Given the description of an element on the screen output the (x, y) to click on. 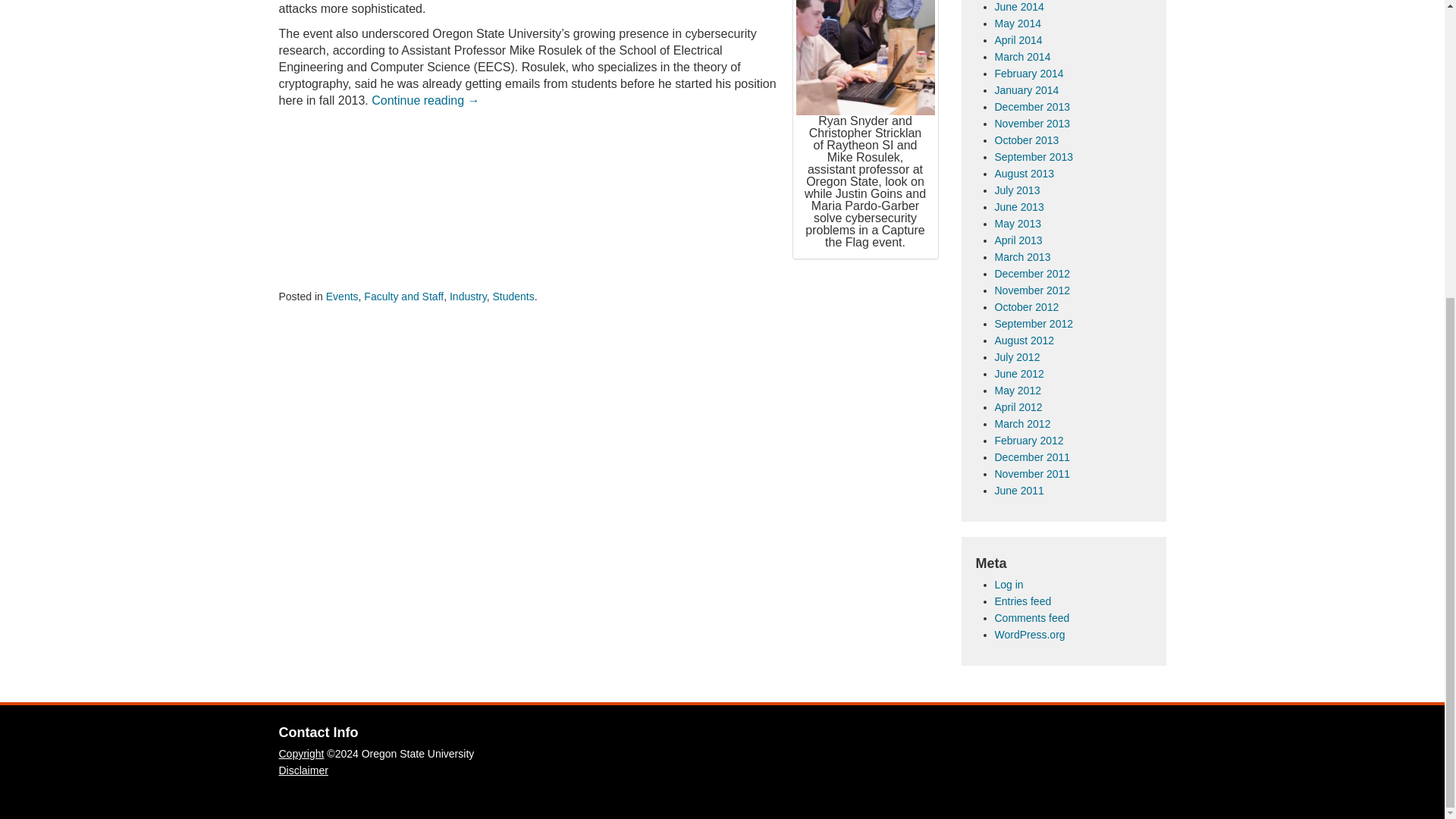
March 2014 (1022, 56)
Students (513, 296)
November 2013 (1032, 123)
Industry (467, 296)
December 2013 (1032, 106)
June 2014 (1018, 6)
May 2014 (1017, 23)
Events (342, 296)
January 2014 (1026, 90)
Faculty and Staff (404, 296)
April 2014 (1018, 39)
February 2014 (1029, 73)
